Given the description of an element on the screen output the (x, y) to click on. 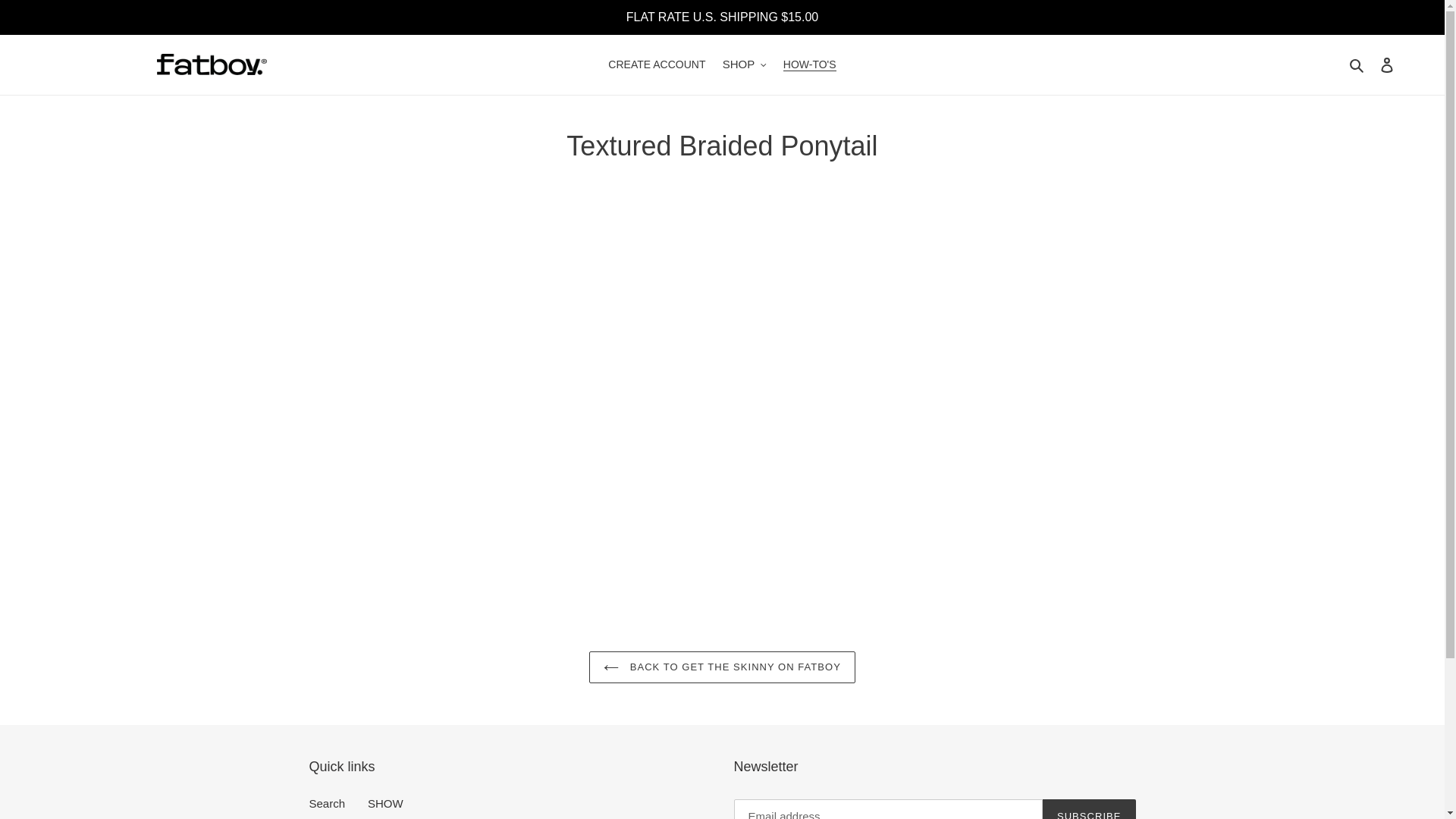
SUBSCRIBE (1088, 809)
BACK TO GET THE SKINNY ON FATBOY (722, 667)
Log in (1387, 64)
HOW-TO'S (810, 64)
SHOW (385, 802)
CREATE ACCOUNT (656, 64)
SHOP (744, 65)
Search (327, 802)
Search (1357, 64)
